Given the description of an element on the screen output the (x, y) to click on. 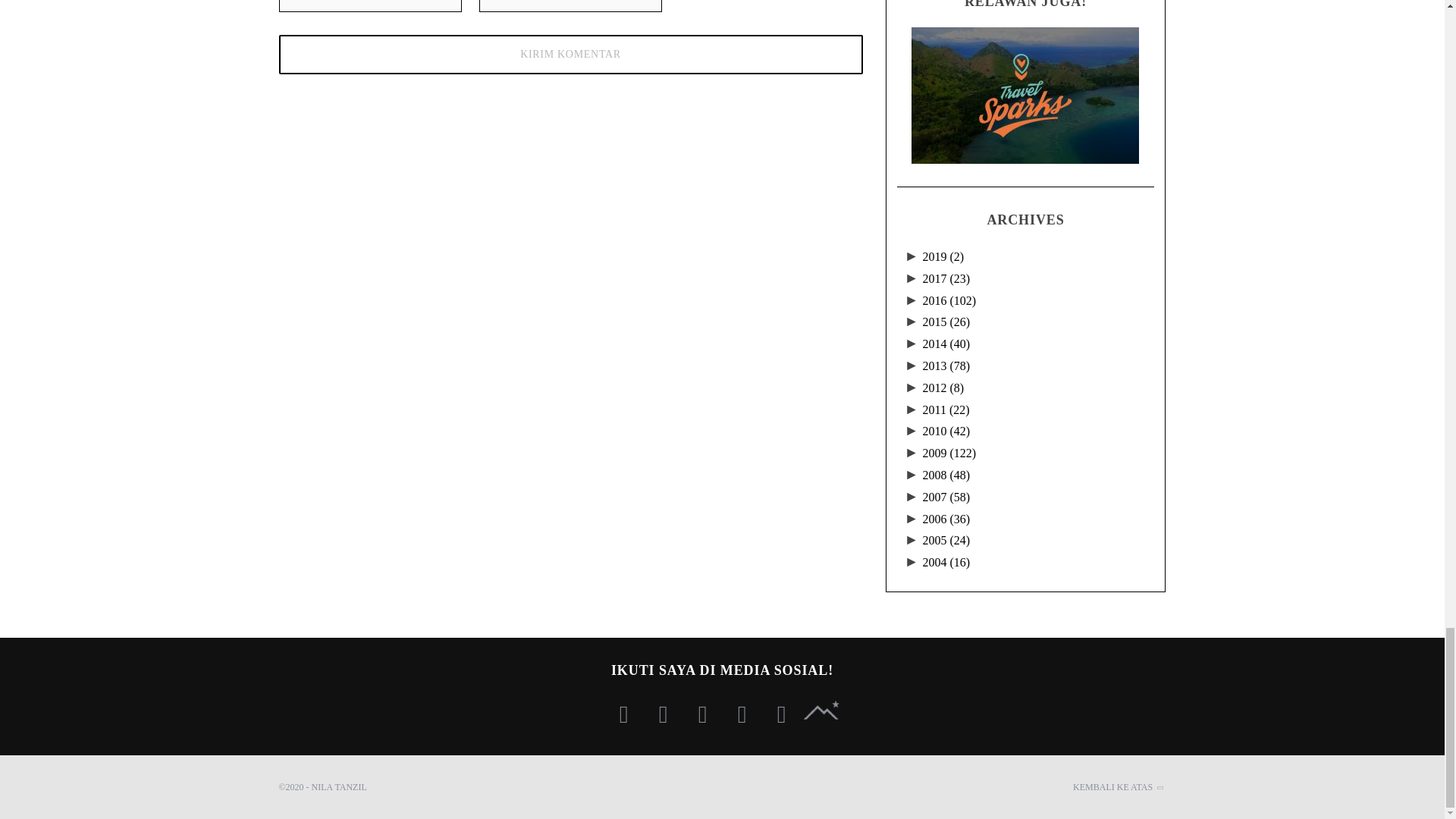
click to expand (912, 256)
Kirim Komentar (571, 54)
click to expand (912, 278)
